Given the description of an element on the screen output the (x, y) to click on. 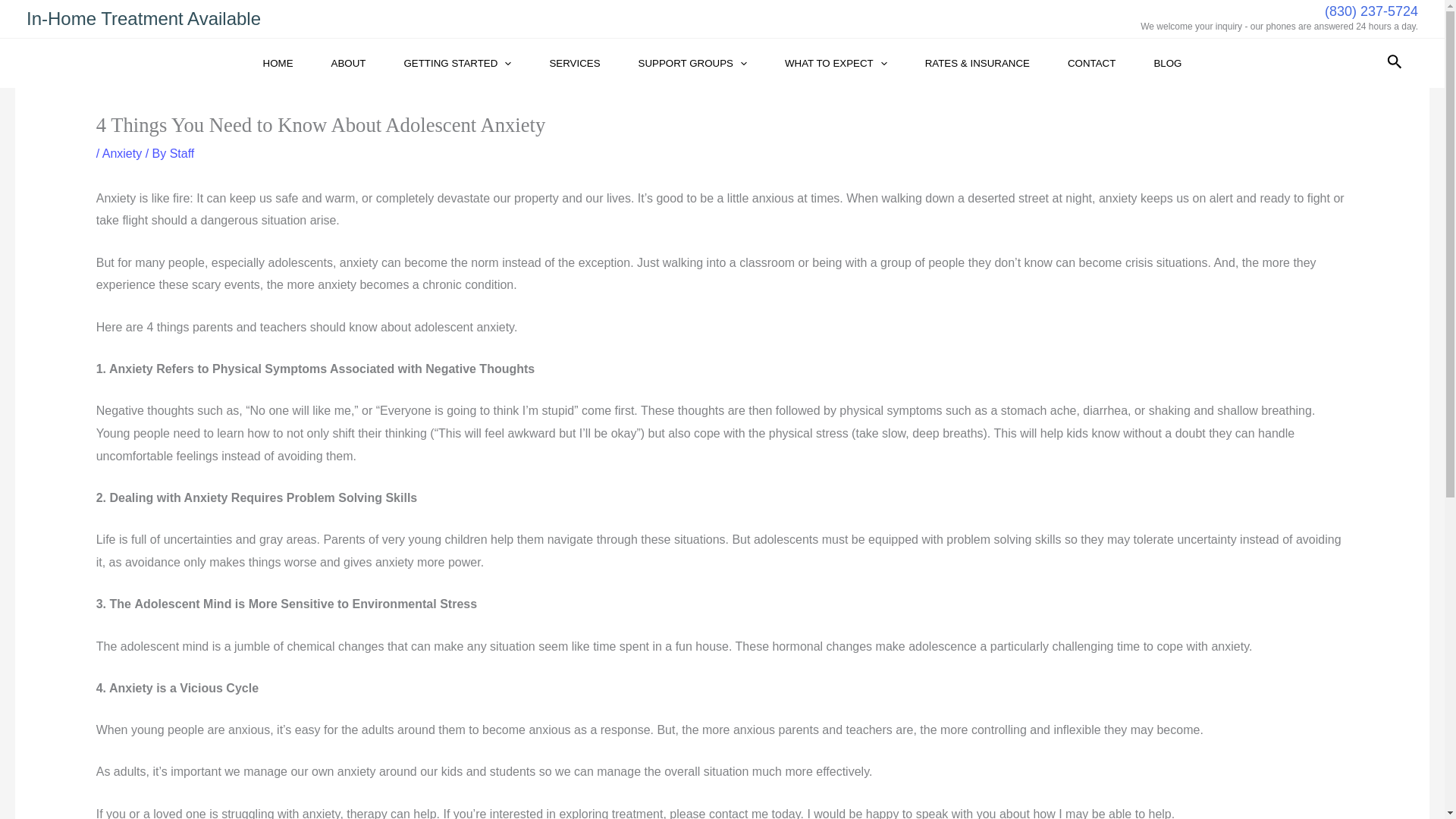
CONTACT (1091, 62)
BLOG (1166, 62)
Anxiety (121, 153)
SERVICES (573, 62)
SUPPORT GROUPS (692, 62)
Staff (182, 153)
GETTING STARTED (456, 62)
View all posts by Staff (182, 153)
ABOUT (349, 62)
WHAT TO EXPECT (835, 62)
HOME (278, 62)
